Given the description of an element on the screen output the (x, y) to click on. 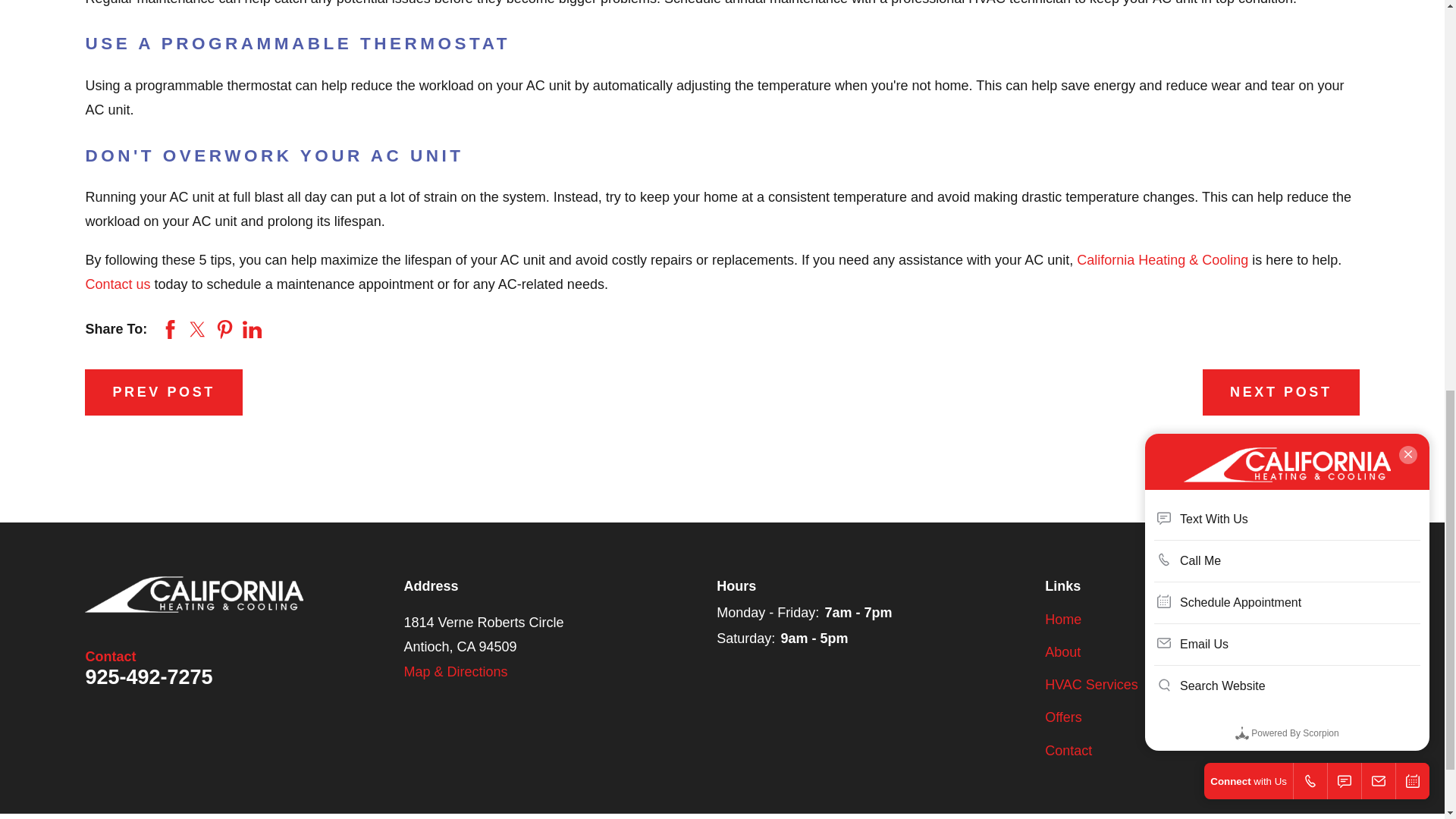
Yelp (1348, 619)
Home (193, 594)
Facebook (1300, 619)
